Given the description of an element on the screen output the (x, y) to click on. 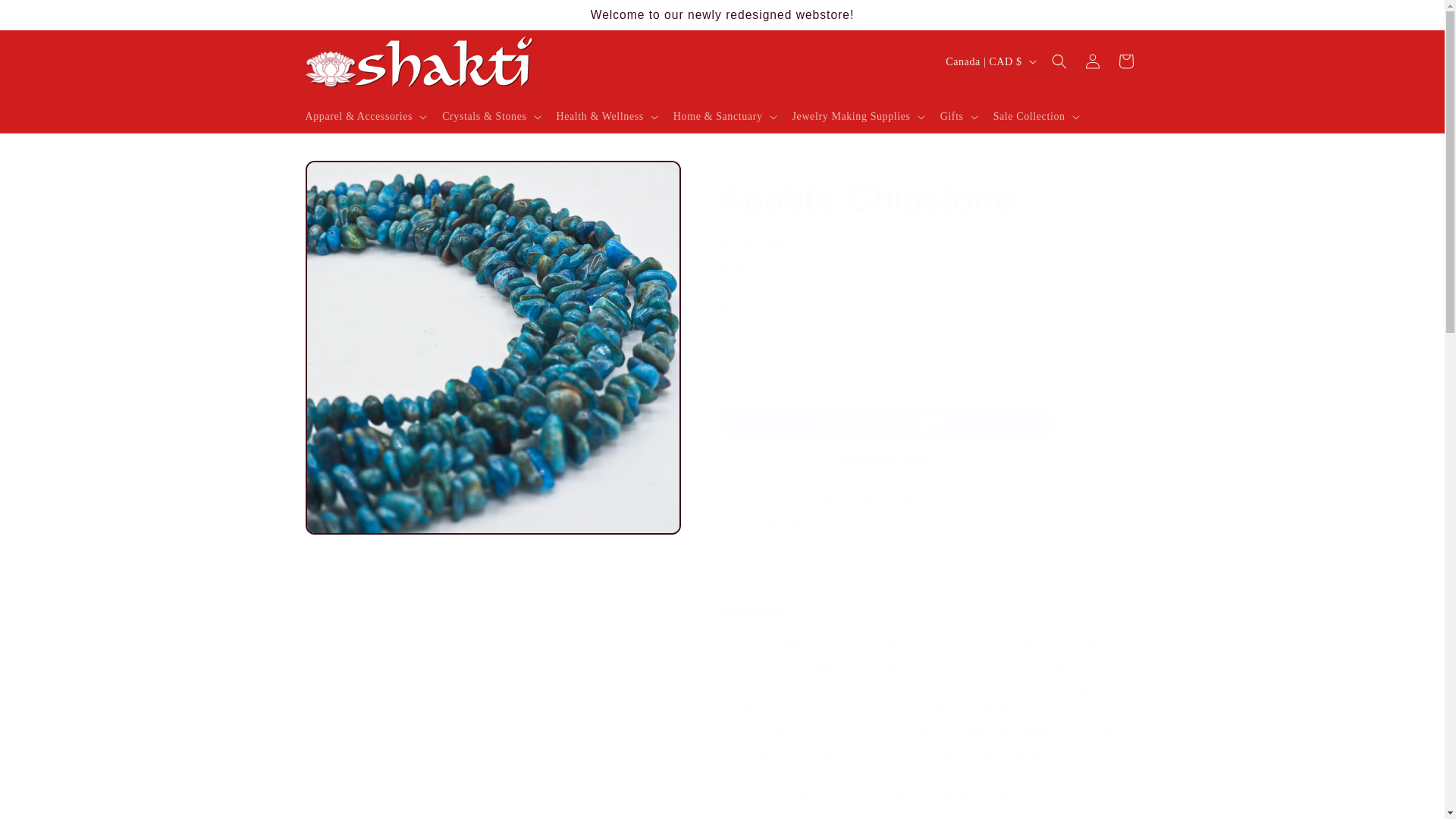
1 (773, 322)
Skip to content (46, 18)
